Given the description of an element on the screen output the (x, y) to click on. 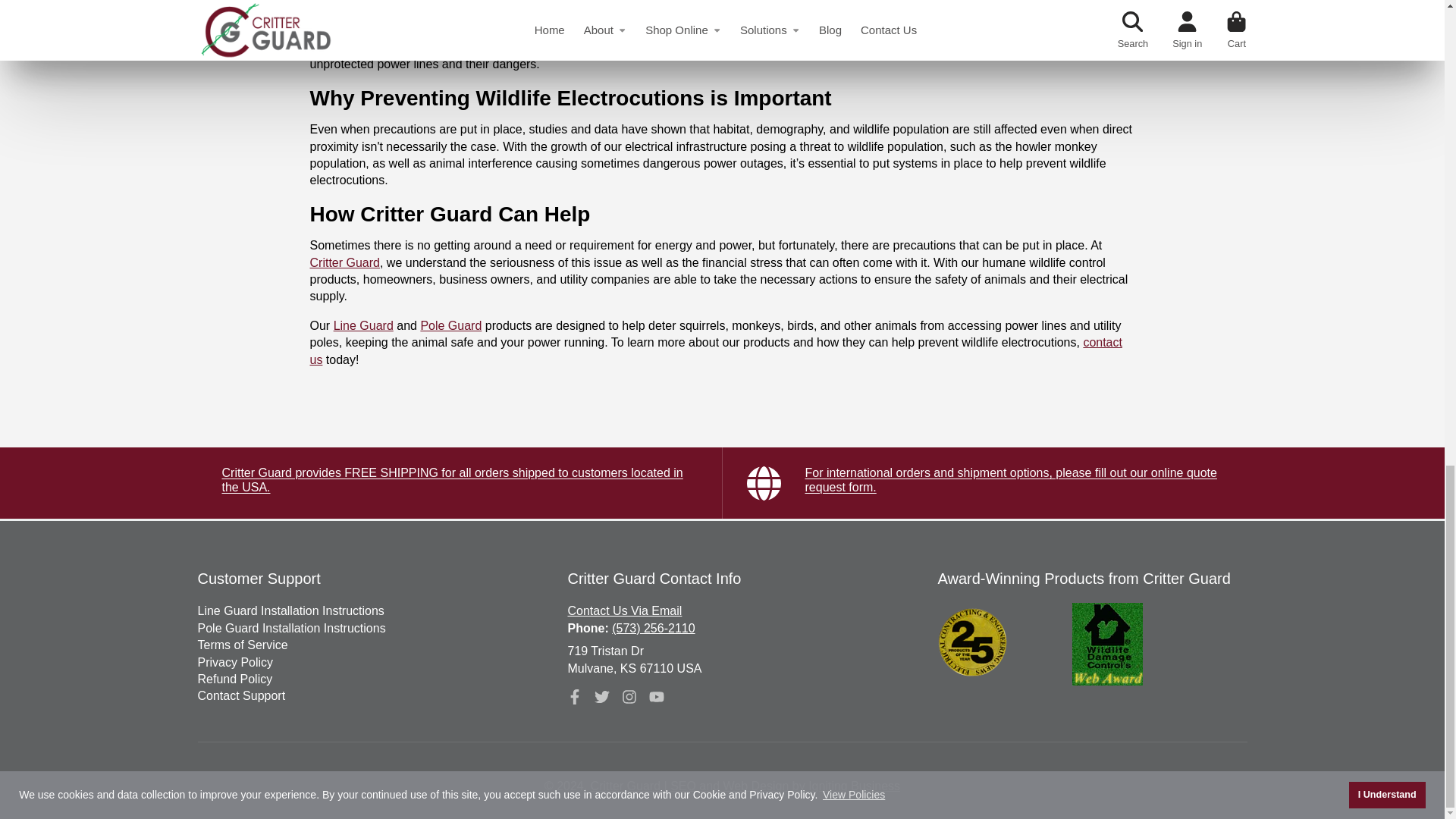
Contact Critter Guard (624, 610)
